Given the description of an element on the screen output the (x, y) to click on. 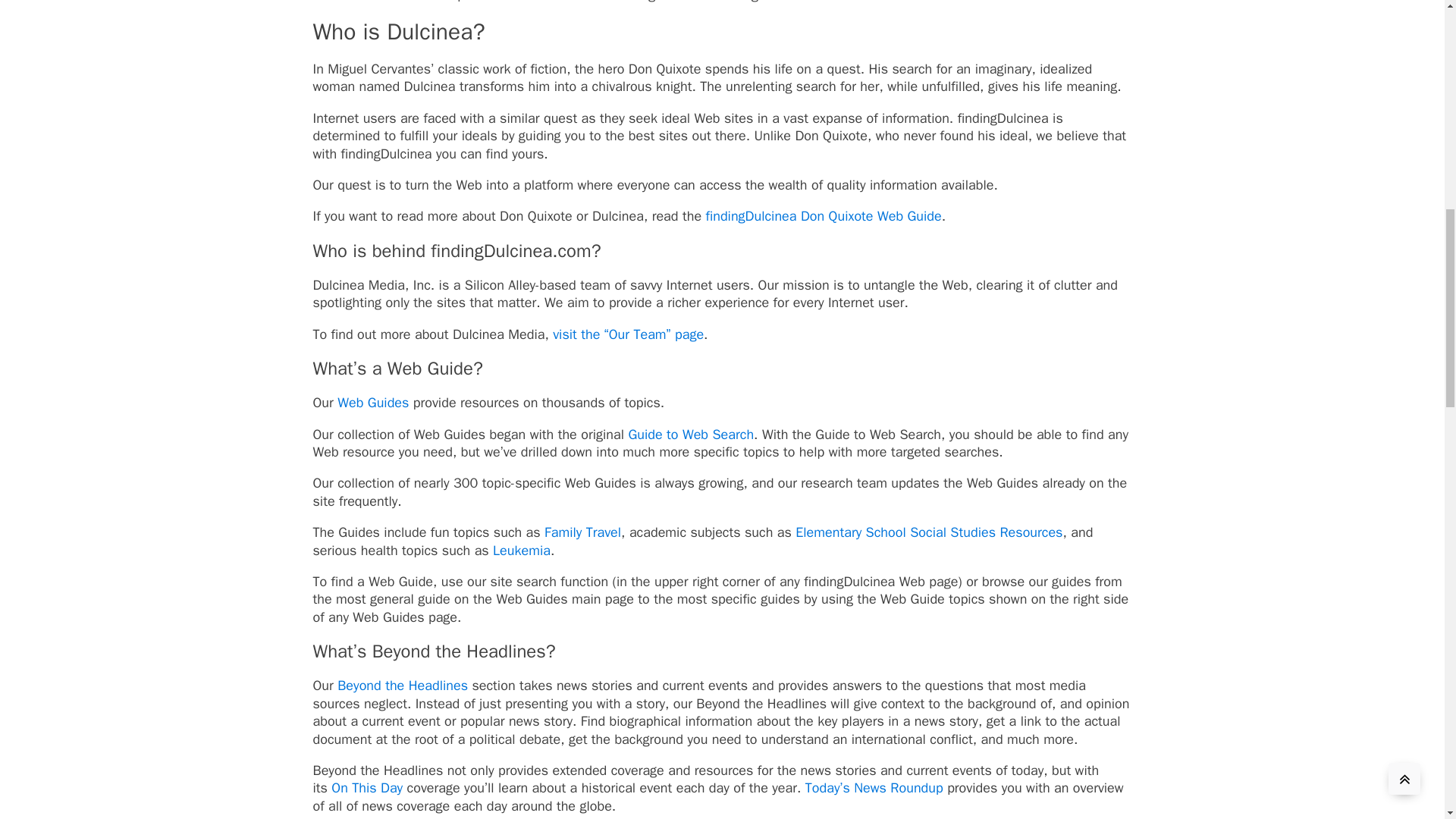
Leukemia (521, 550)
Elementary School Social Studies Resources (928, 532)
Guide to Web Search (690, 434)
Family Travel (582, 532)
Web Guides (373, 402)
findingDulcinea Don Quixote Web Guide (822, 216)
Beyond the Headlines  (404, 685)
On This Day (367, 787)
